Given the description of an element on the screen output the (x, y) to click on. 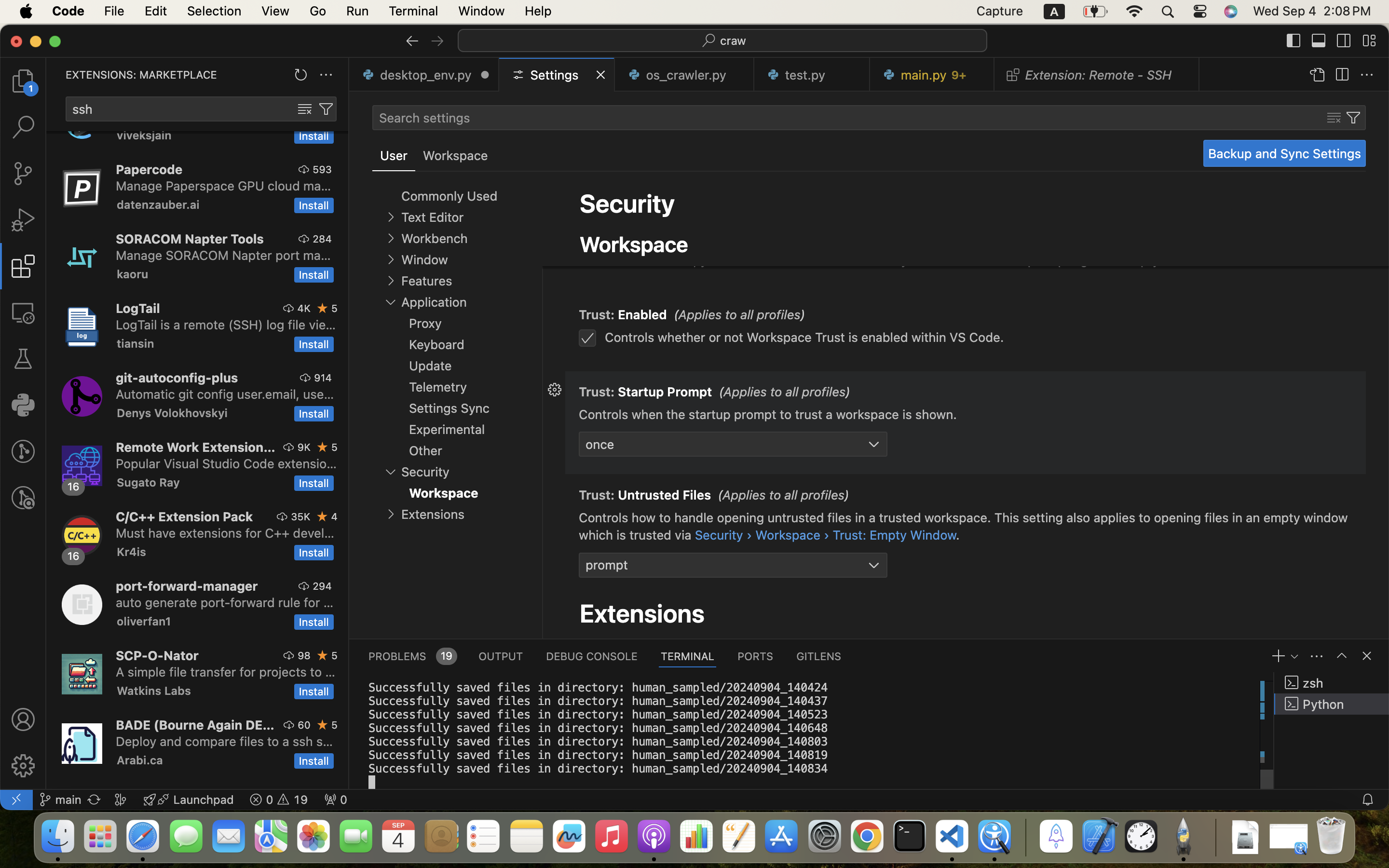
914 Element type: AXStaticText (322, 377)
0 OUTPUT Element type: AXRadioButton (500, 655)
Manage Paperspace GPU cloud machines directly from VS Code. Open with just one click a remote VS Code session, streamlining your machine learning & data science process and increasing productivity. Element type: AXStaticText (223, 185)
Applies to all profiles Element type: AXGroup (784, 392)
Applies to all profiles Element type: AXStaticText (781, 220)
